Given the description of an element on the screen output the (x, y) to click on. 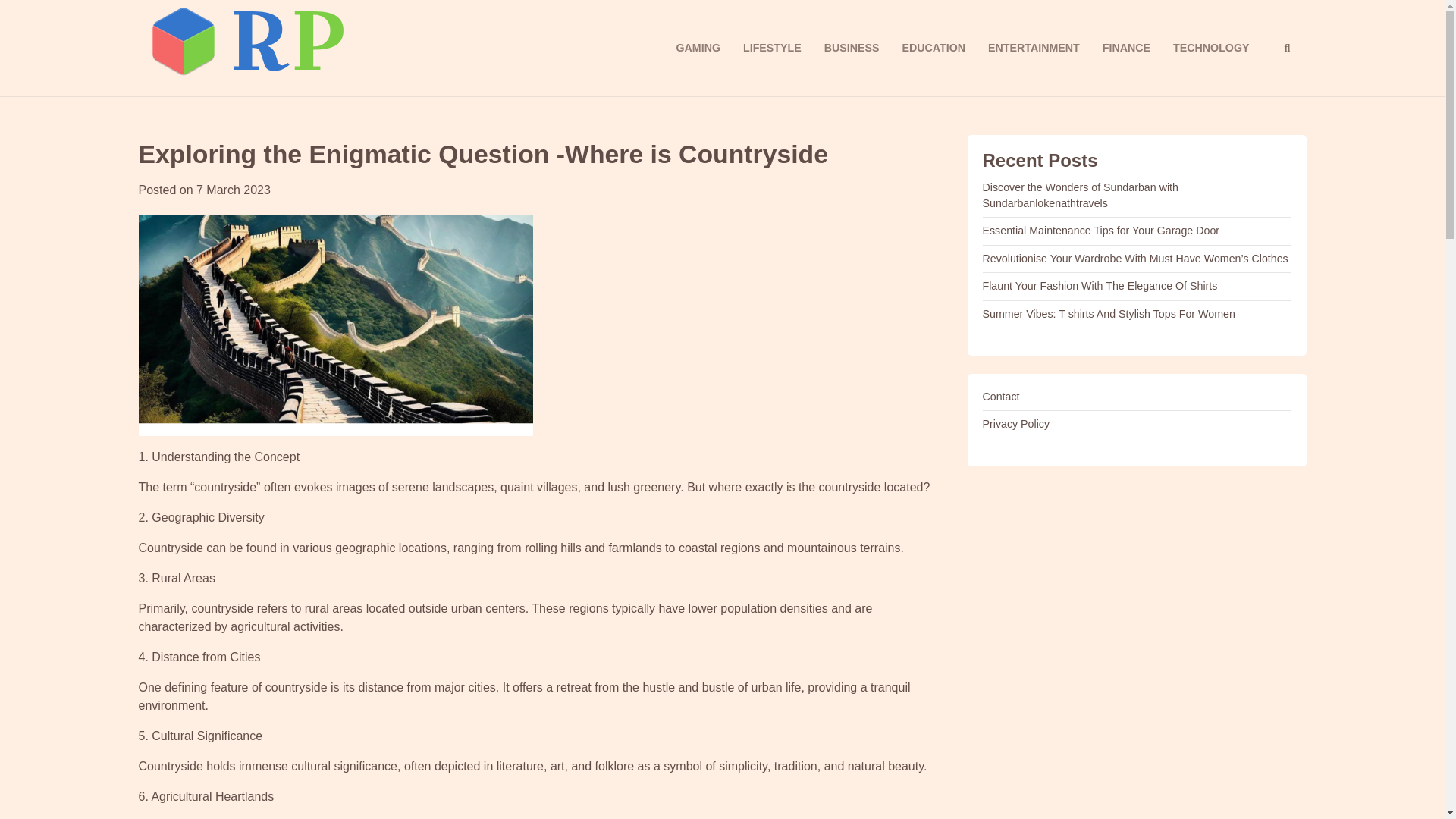
Essential Maintenance Tips for Your Garage Door (1101, 230)
TECHNOLOGY (1210, 47)
EDUCATION (932, 47)
Summer Vibes: T shirts And Stylish Tops For Women (1108, 313)
Search (1259, 85)
Flaunt Your Fashion With The Elegance Of Shirts (1099, 285)
BUSINESS (851, 47)
Contact (1001, 396)
ENTERTAINMENT (1033, 47)
FINANCE (1125, 47)
7 March 2023 (233, 189)
Search (1286, 47)
LIFESTYLE (772, 47)
Privacy Policy (1015, 423)
